Given the description of an element on the screen output the (x, y) to click on. 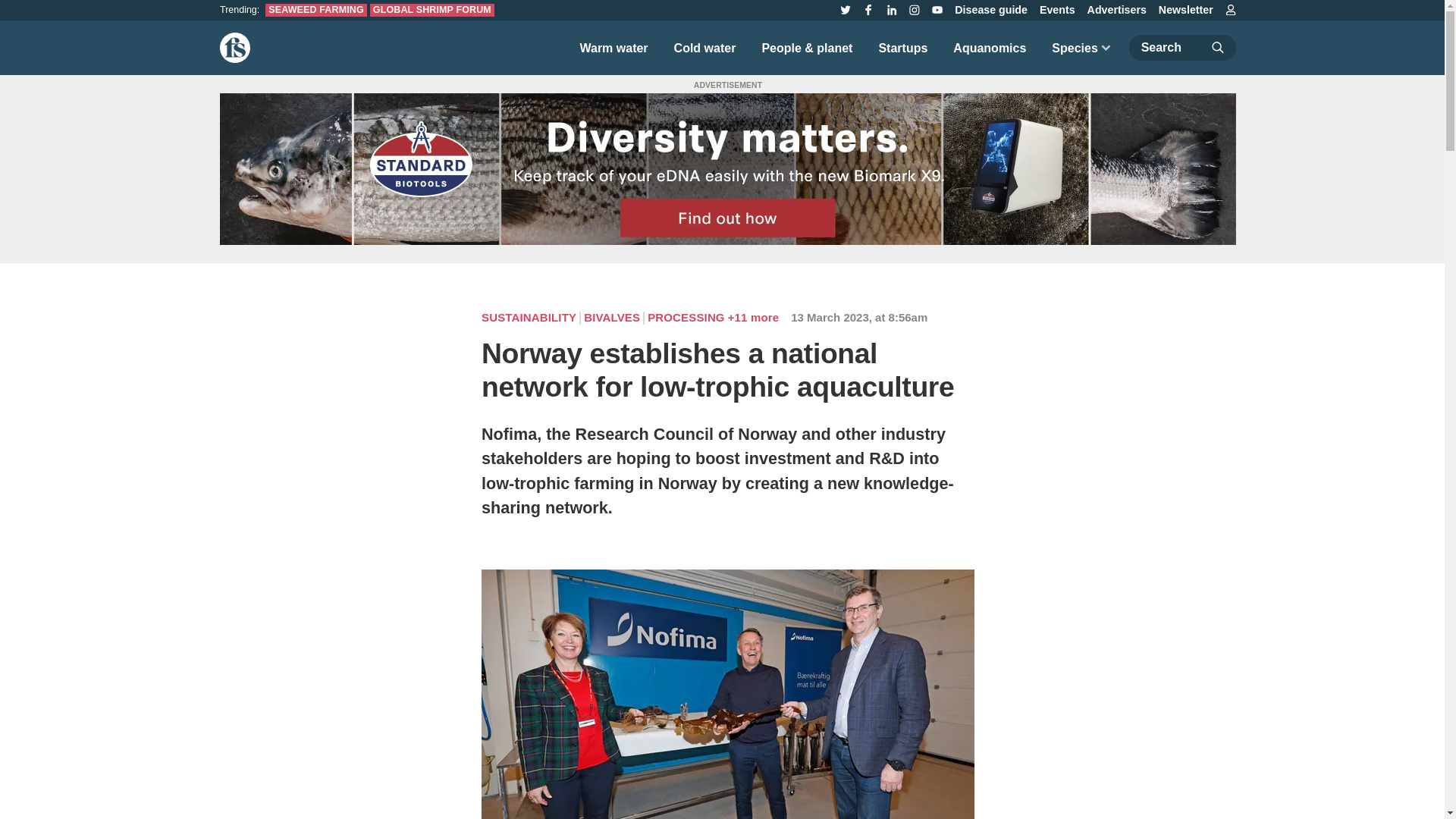
Advertisers (1117, 10)
Return to The Fish Site homepage (234, 47)
Twitter (845, 9)
Facebook (868, 9)
Warm water (613, 47)
LinkedIn (891, 9)
Startups (902, 47)
Aquanomics (989, 47)
Instagram (914, 9)
YouTube (936, 9)
